Given the description of an element on the screen output the (x, y) to click on. 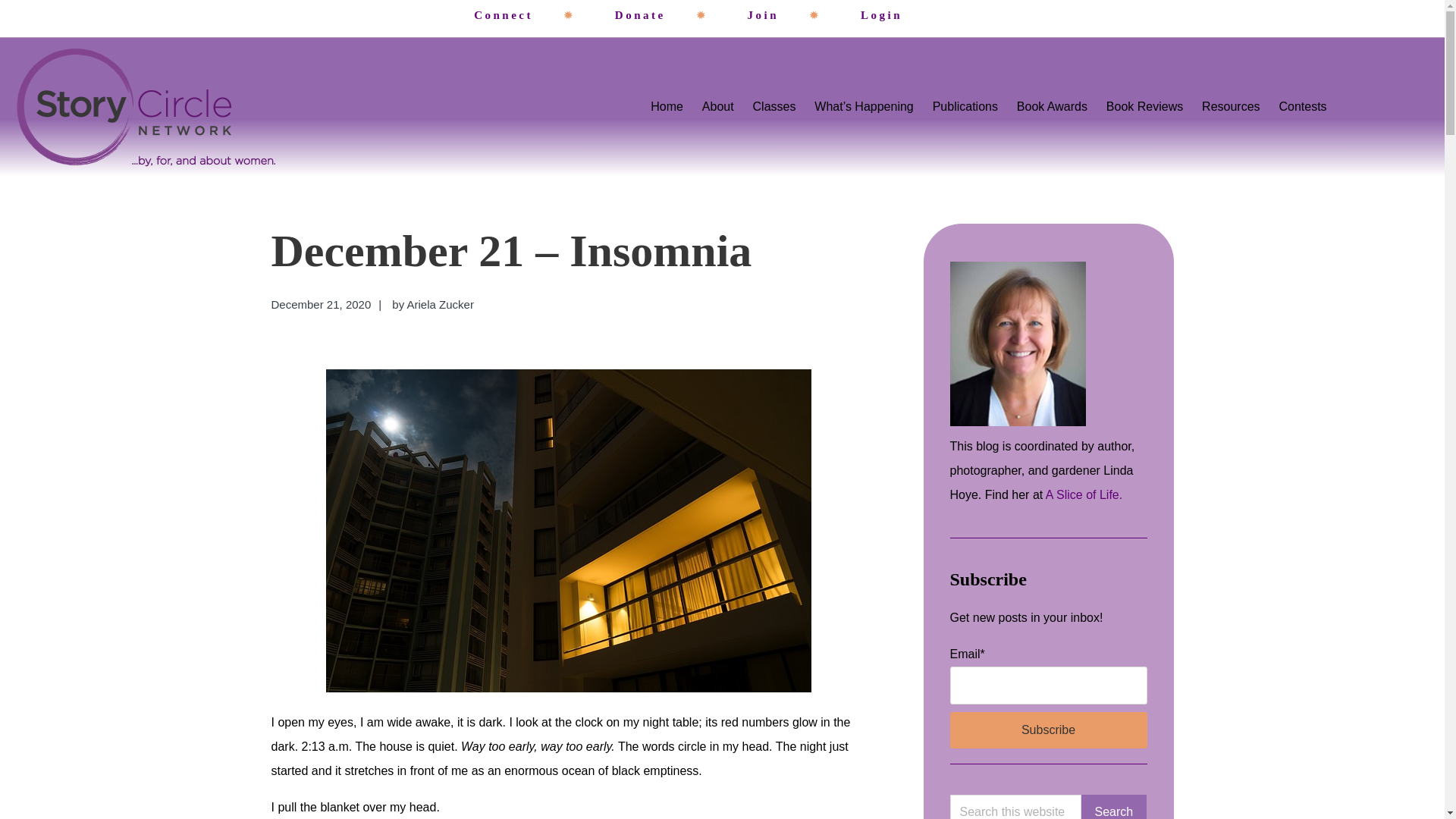
Join (763, 15)
Connect (503, 15)
About (718, 106)
Search (1114, 806)
Subscribe (1048, 729)
Home (666, 106)
Publications (965, 106)
Search (1114, 806)
Classes (774, 106)
Login (881, 15)
STORY CIRCLE (125, 186)
Donate (639, 15)
